Given the description of an element on the screen output the (x, y) to click on. 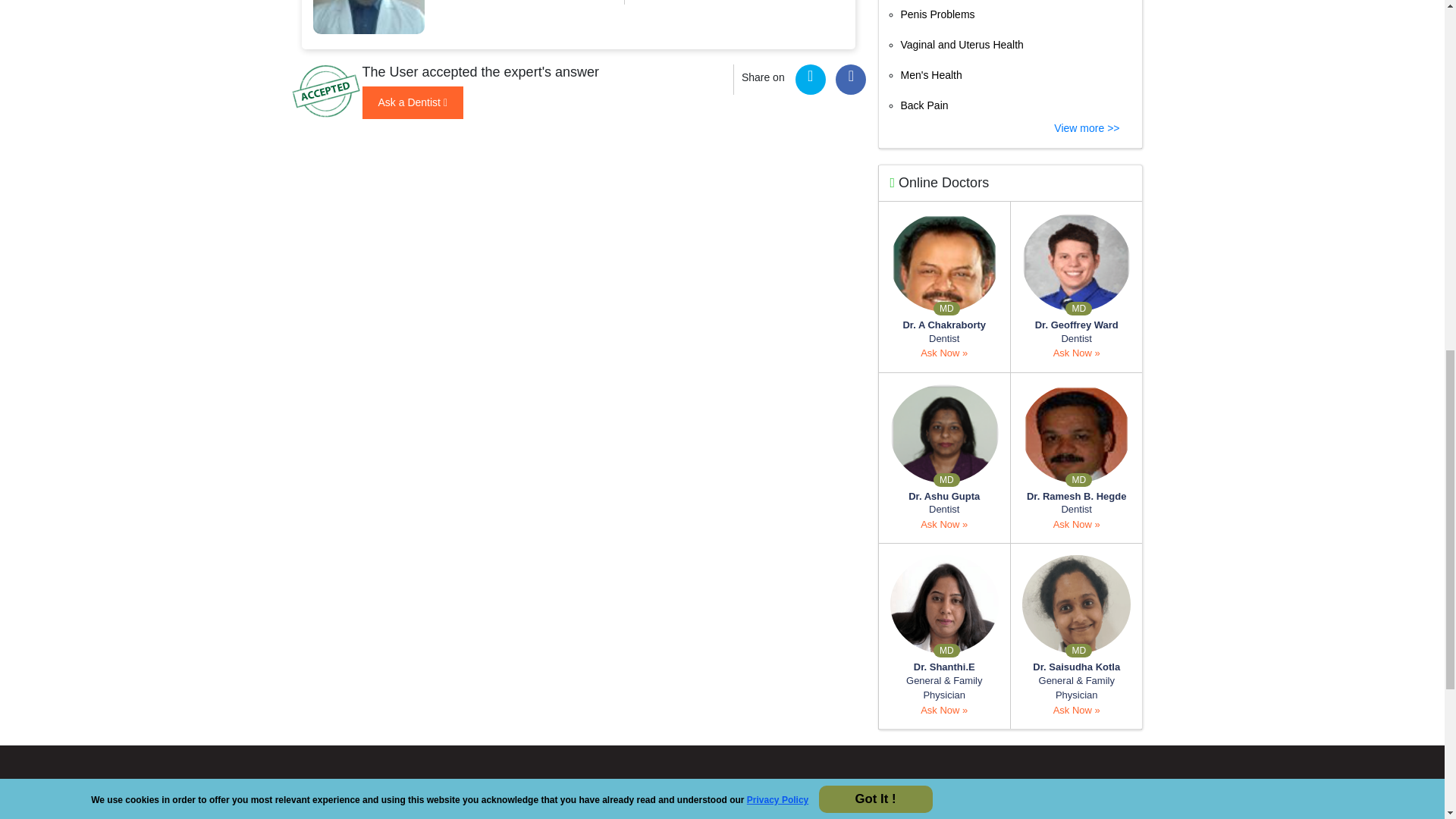
Ask a Dentist (413, 102)
